Given the description of an element on the screen output the (x, y) to click on. 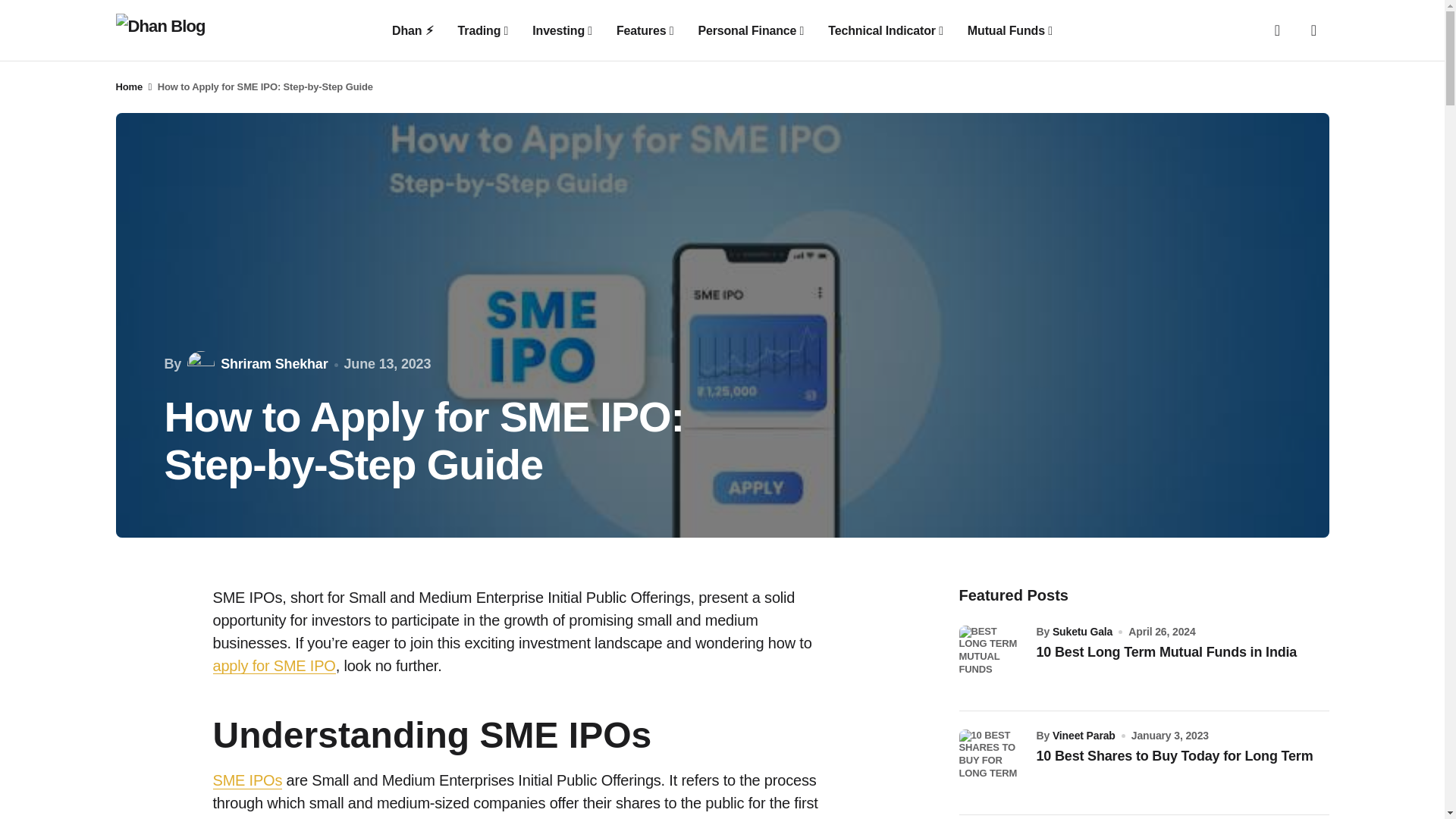
Home (128, 86)
SME IPOs (247, 780)
Shriram Shekhar (255, 364)
apply for SME IPO (273, 665)
